Given the description of an element on the screen output the (x, y) to click on. 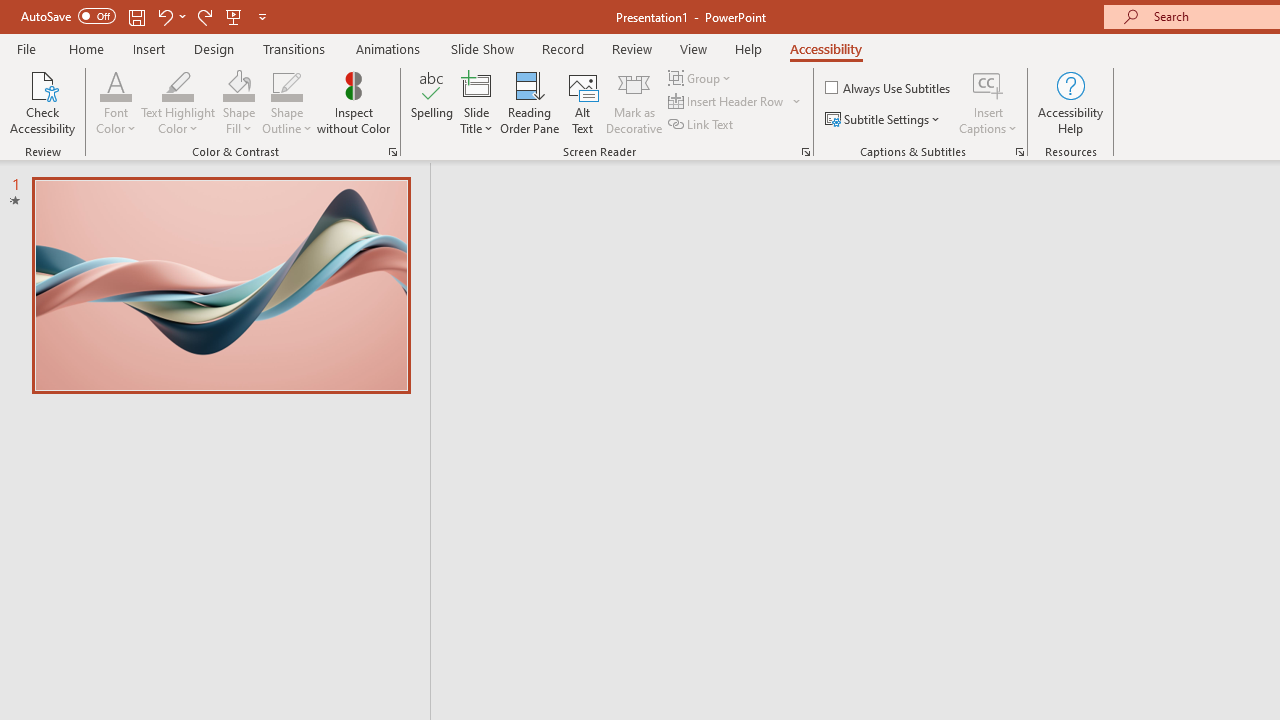
Captions & Subtitles (1019, 151)
Group (701, 78)
